Given the description of an element on the screen output the (x, y) to click on. 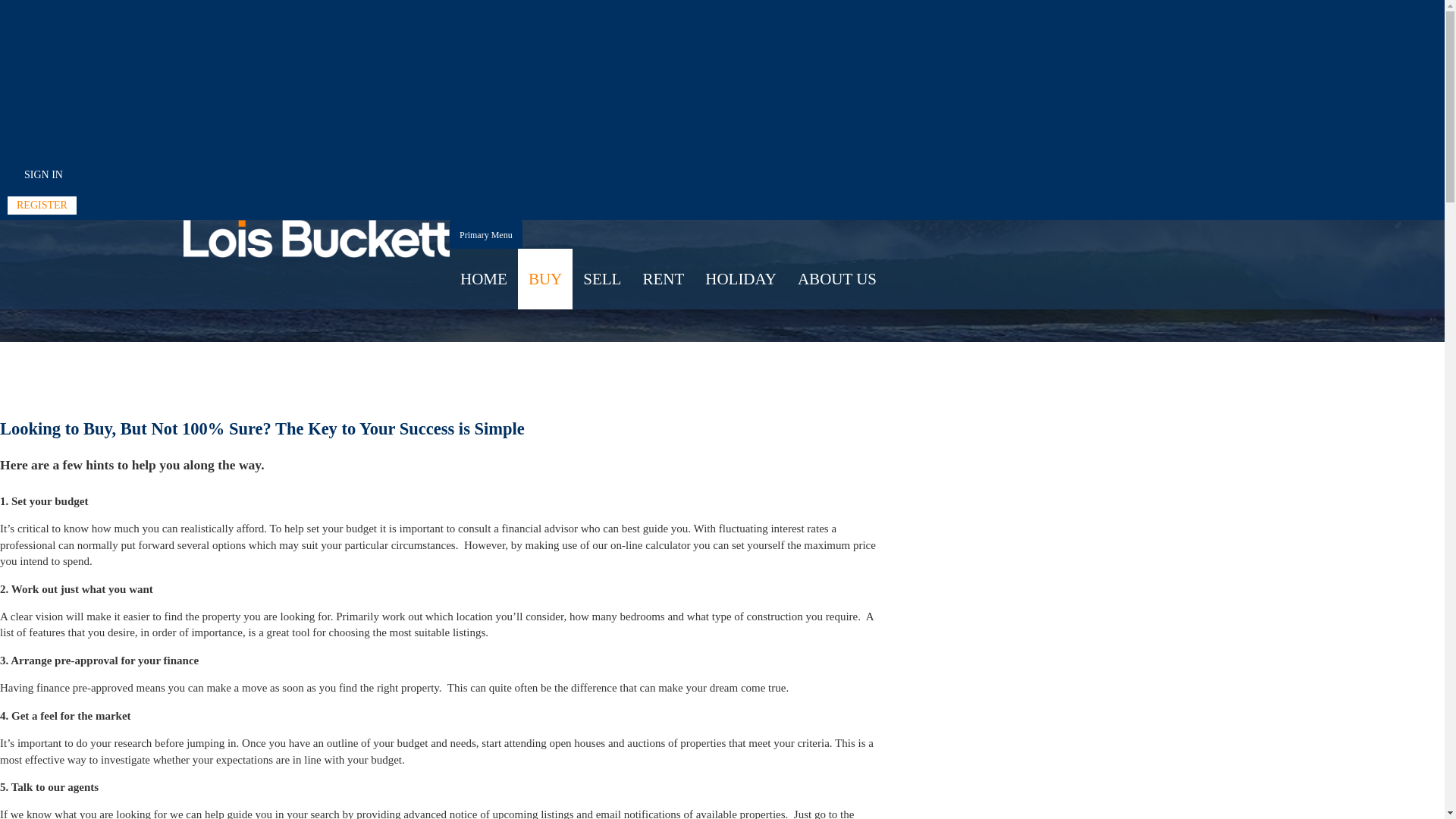
HOLIDAY Element type: text (740, 278)
HOME Element type: text (483, 278)
ABOUT US Element type: text (837, 278)
Primary Menu Element type: text (485, 233)
SIGN IN Element type: text (43, 175)
SELL Element type: text (601, 278)
BUY Element type: text (544, 278)
REGISTER Element type: text (41, 205)
Buying Element type: text (74, 188)
RENT Element type: text (662, 278)
Home Element type: text (30, 188)
